Given the description of an element on the screen output the (x, y) to click on. 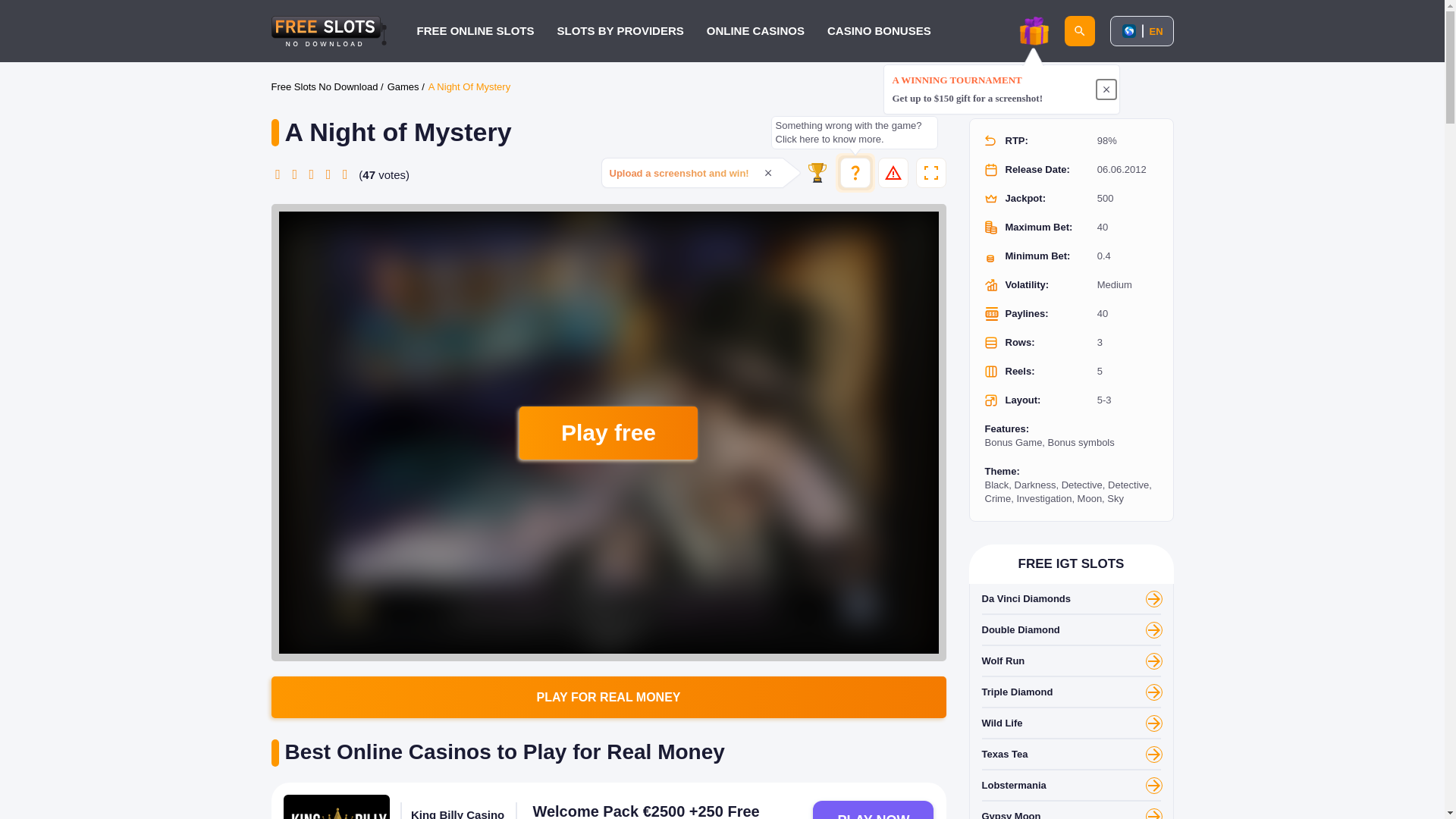
FREE ONLINE SLOTS (475, 30)
Bug Report (892, 173)
Full Screen (930, 173)
